Given the description of an element on the screen output the (x, y) to click on. 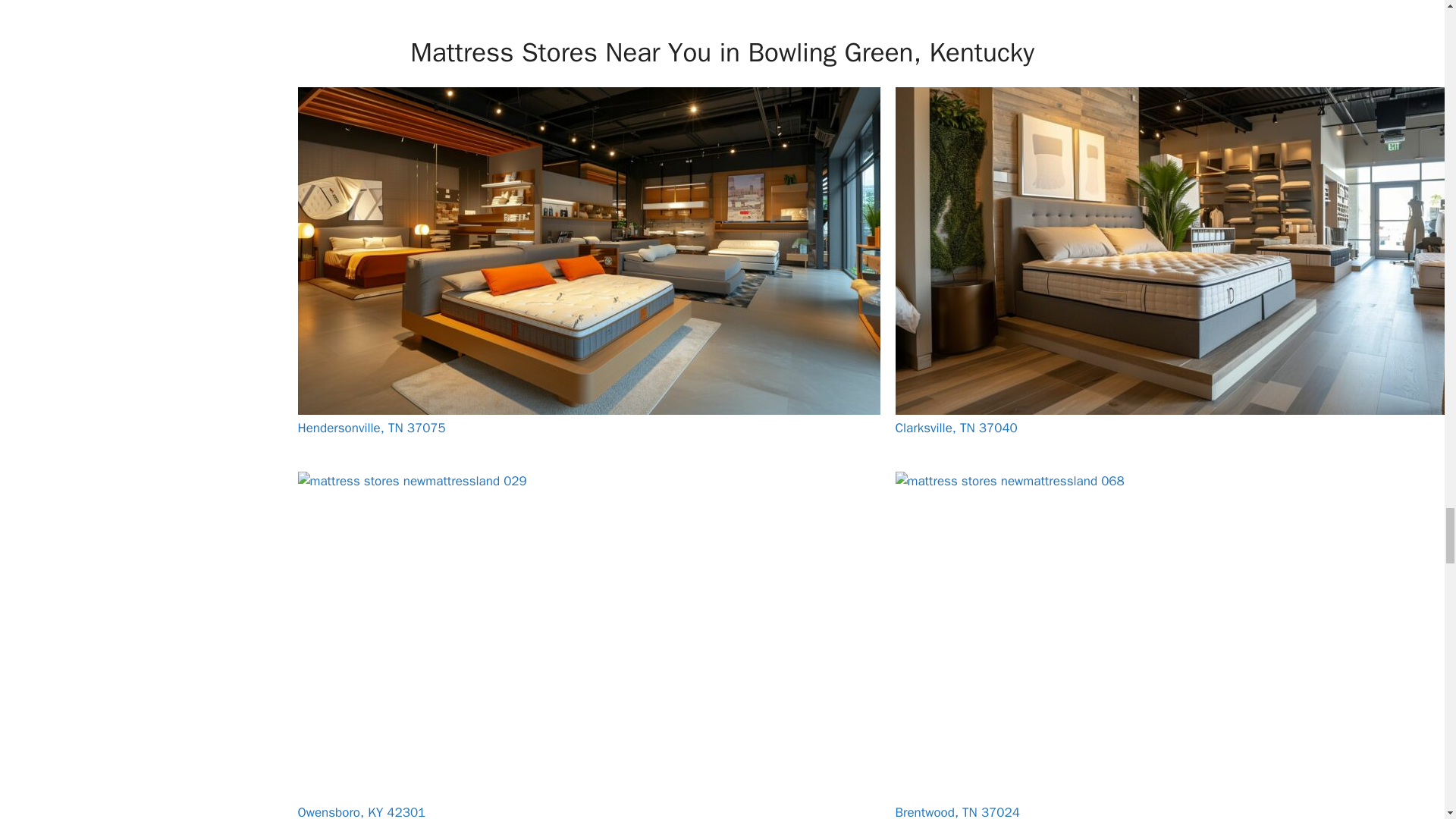
Hendersonville, TN 37075 (371, 427)
Clarksville, TN 37040 (955, 427)
